Given the description of an element on the screen output the (x, y) to click on. 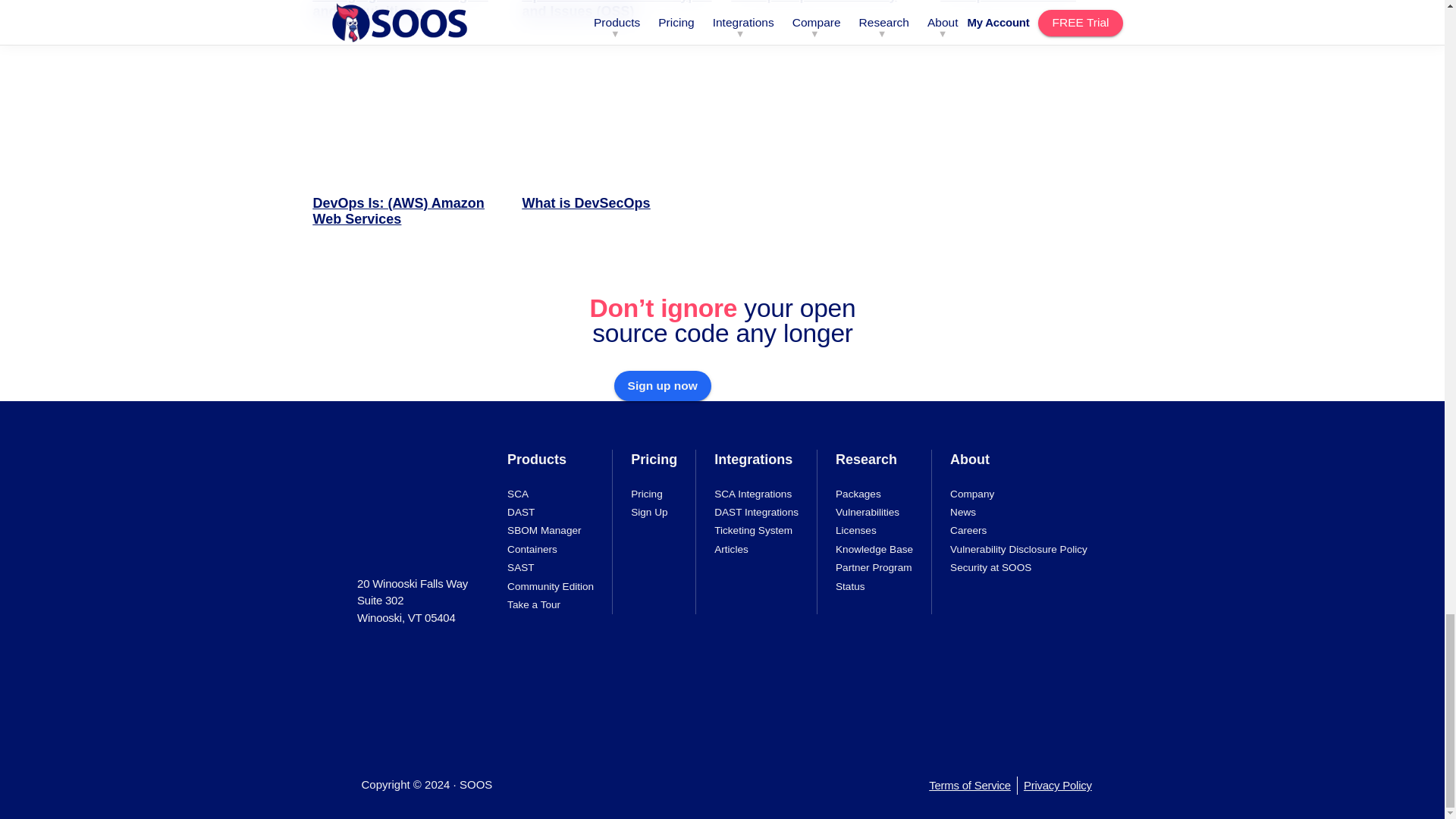
DevOps Is: Atlassian (1035, 19)
Managing OSS for Mergers and Acquisitions (408, 19)
DevOps Pipeline Security (825, 19)
SOC2 Logo (552, 662)
Read reviews of SOOS on G2 (417, 658)
What is DevSecOps (617, 151)
